Given the description of an element on the screen output the (x, y) to click on. 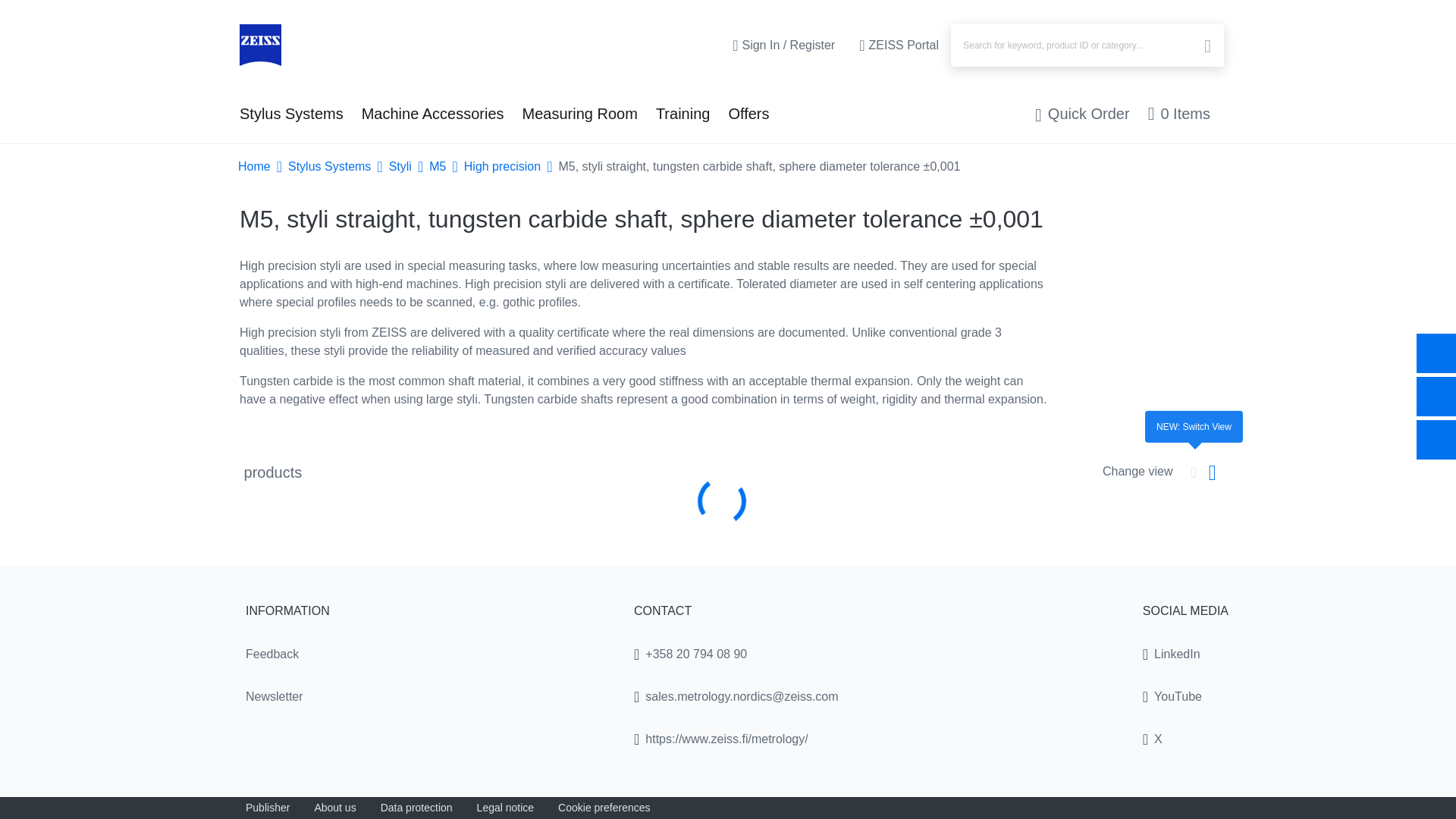
Quick Order (1082, 113)
Stylus Systems (291, 113)
  ZEISS Portal (899, 45)
Home (260, 45)
ZEISS Portal (899, 45)
Start search. (1206, 46)
